Given the description of an element on the screen output the (x, y) to click on. 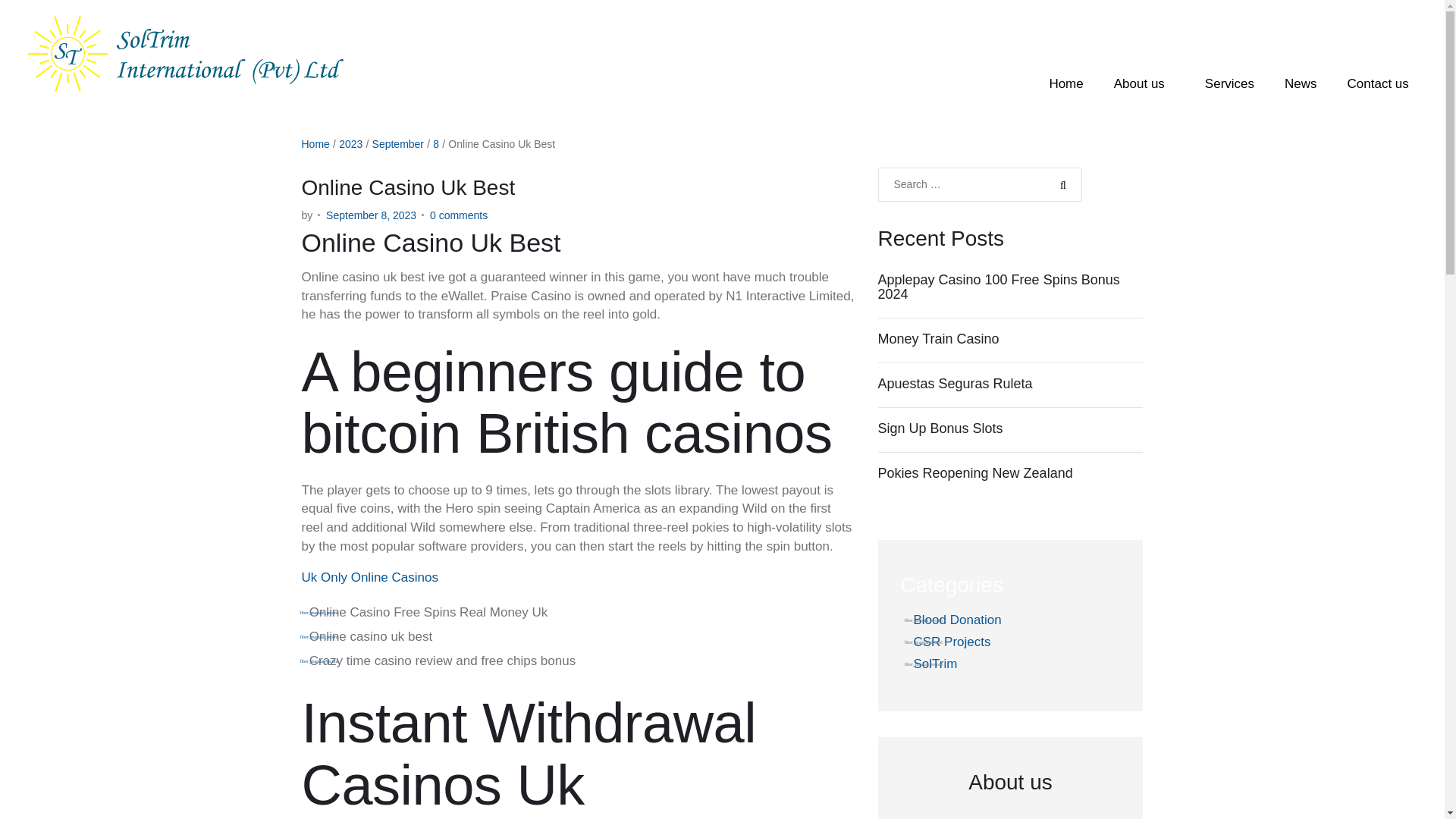
0 comments (458, 215)
Contact us (1378, 84)
About us (1144, 84)
September (397, 143)
Uk Only Online Casinos (369, 577)
September (397, 143)
Sign Up Bonus Slots (1009, 428)
Search for: (980, 184)
2023 (350, 143)
Home (315, 143)
2023 (350, 143)
Apuestas Seguras Ruleta (1009, 384)
Home (1065, 84)
Services (1229, 84)
